Given the description of an element on the screen output the (x, y) to click on. 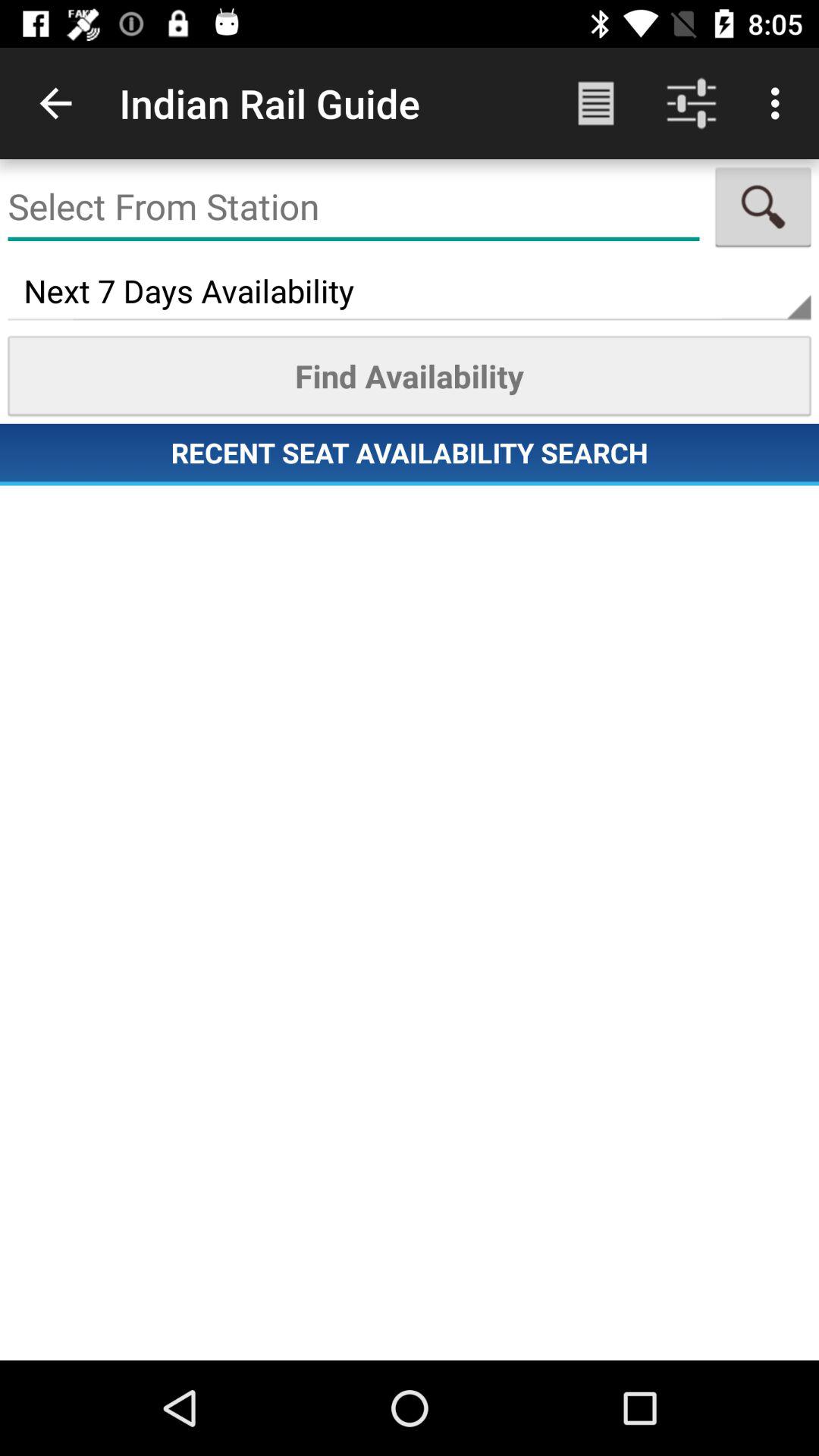
touch for entering search elements (353, 206)
